Given the description of an element on the screen output the (x, y) to click on. 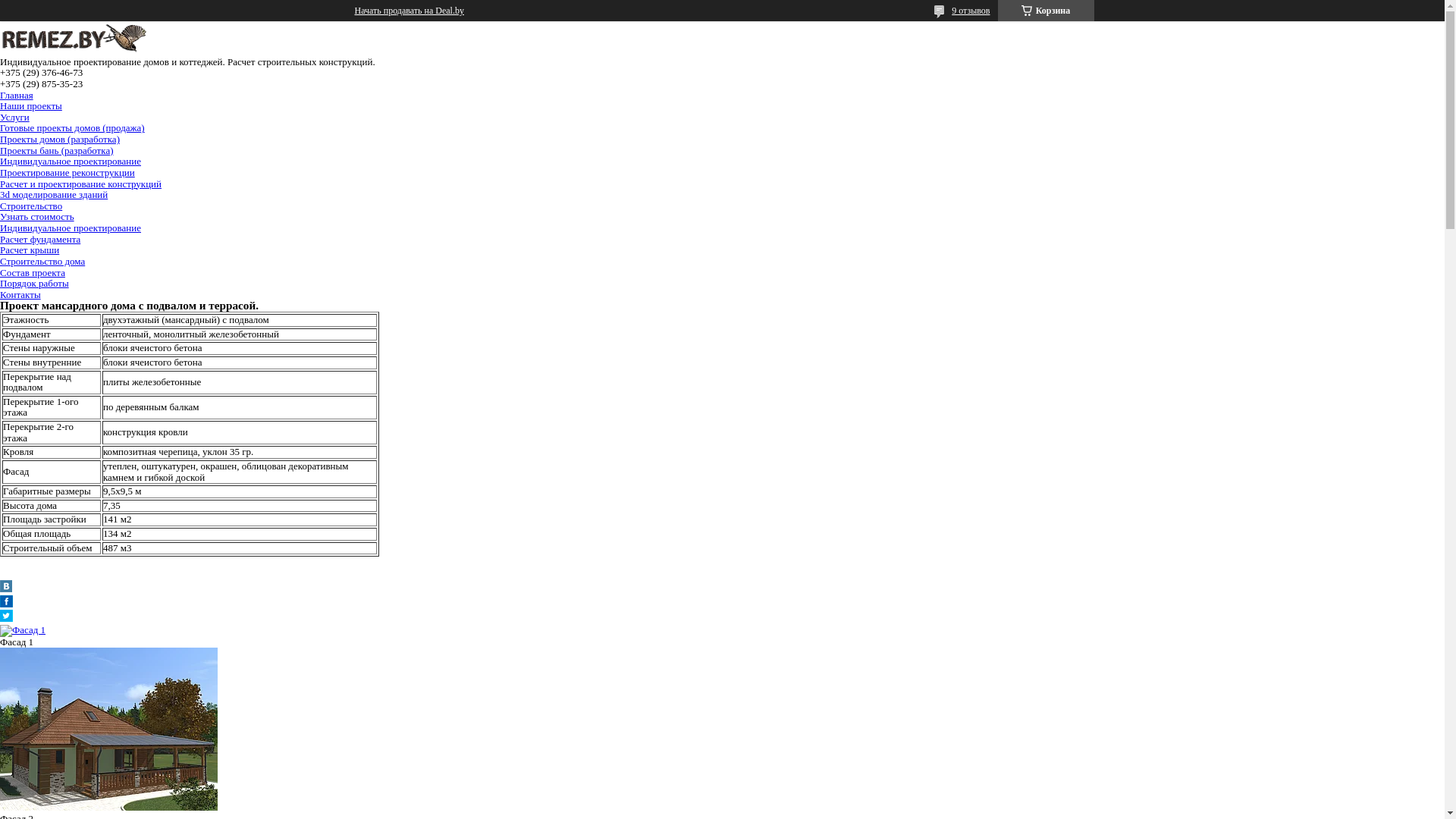
twitter Element type: hover (6, 618)
facebook Element type: hover (6, 602)
